Given the description of an element on the screen output the (x, y) to click on. 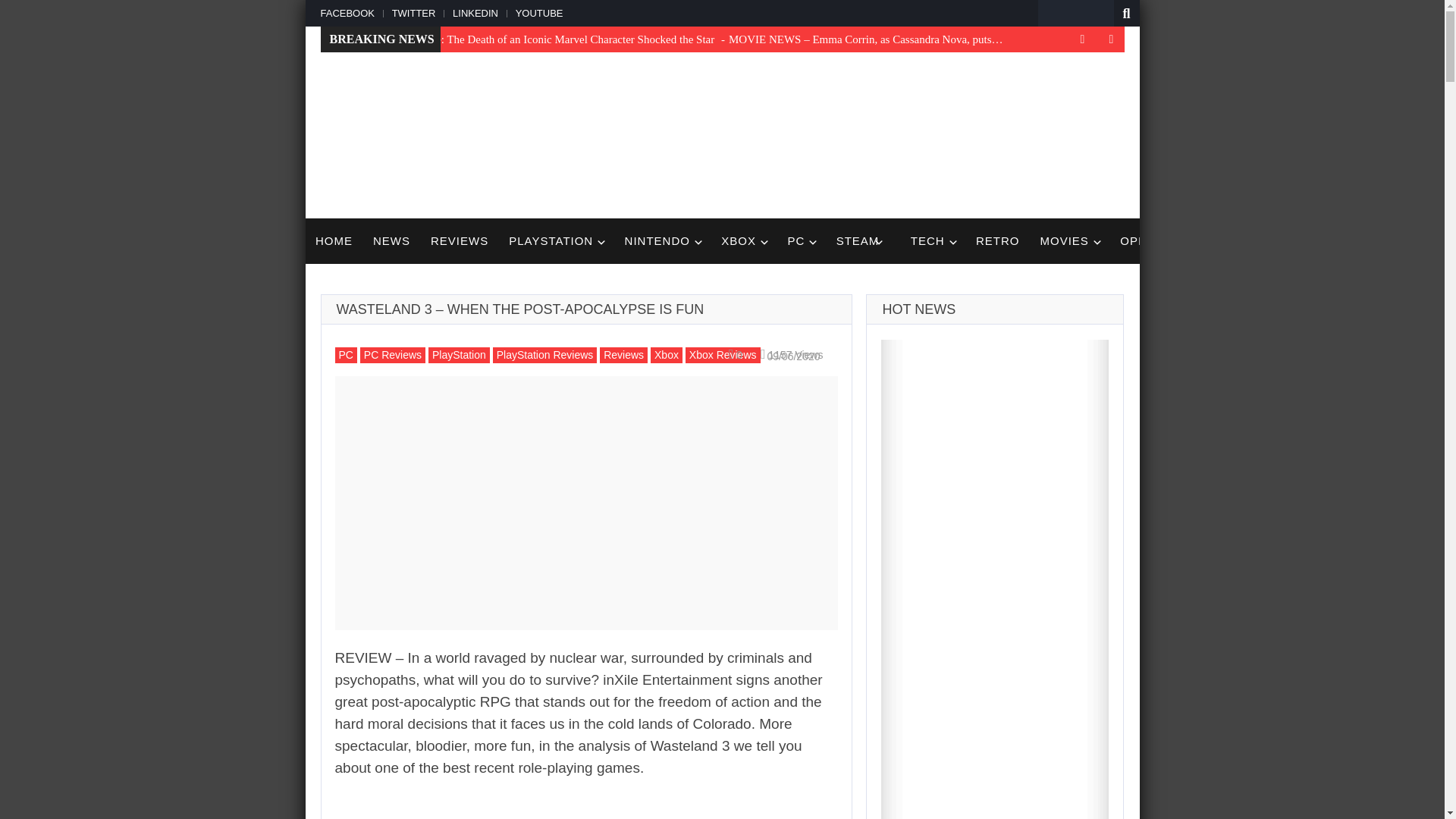
LINKEDIN (473, 12)
FACEBOOK (350, 12)
TWITTER (411, 12)
YOUTUBE (537, 12)
9:12 pm (790, 354)
